Given the description of an element on the screen output the (x, y) to click on. 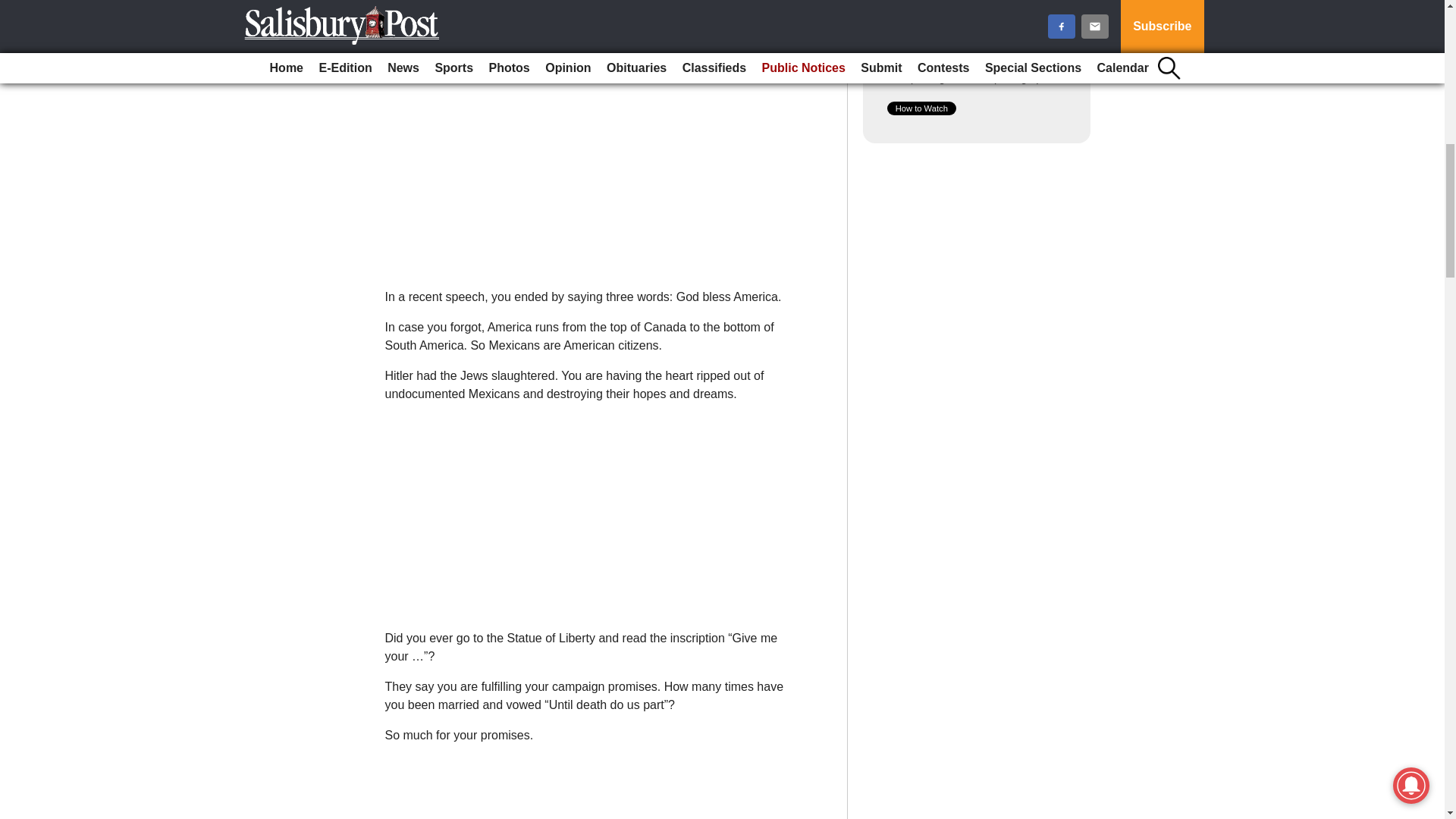
3rd party ad content (592, 787)
3rd party ad content (592, 510)
3rd party ad content (592, 168)
